Given the description of an element on the screen output the (x, y) to click on. 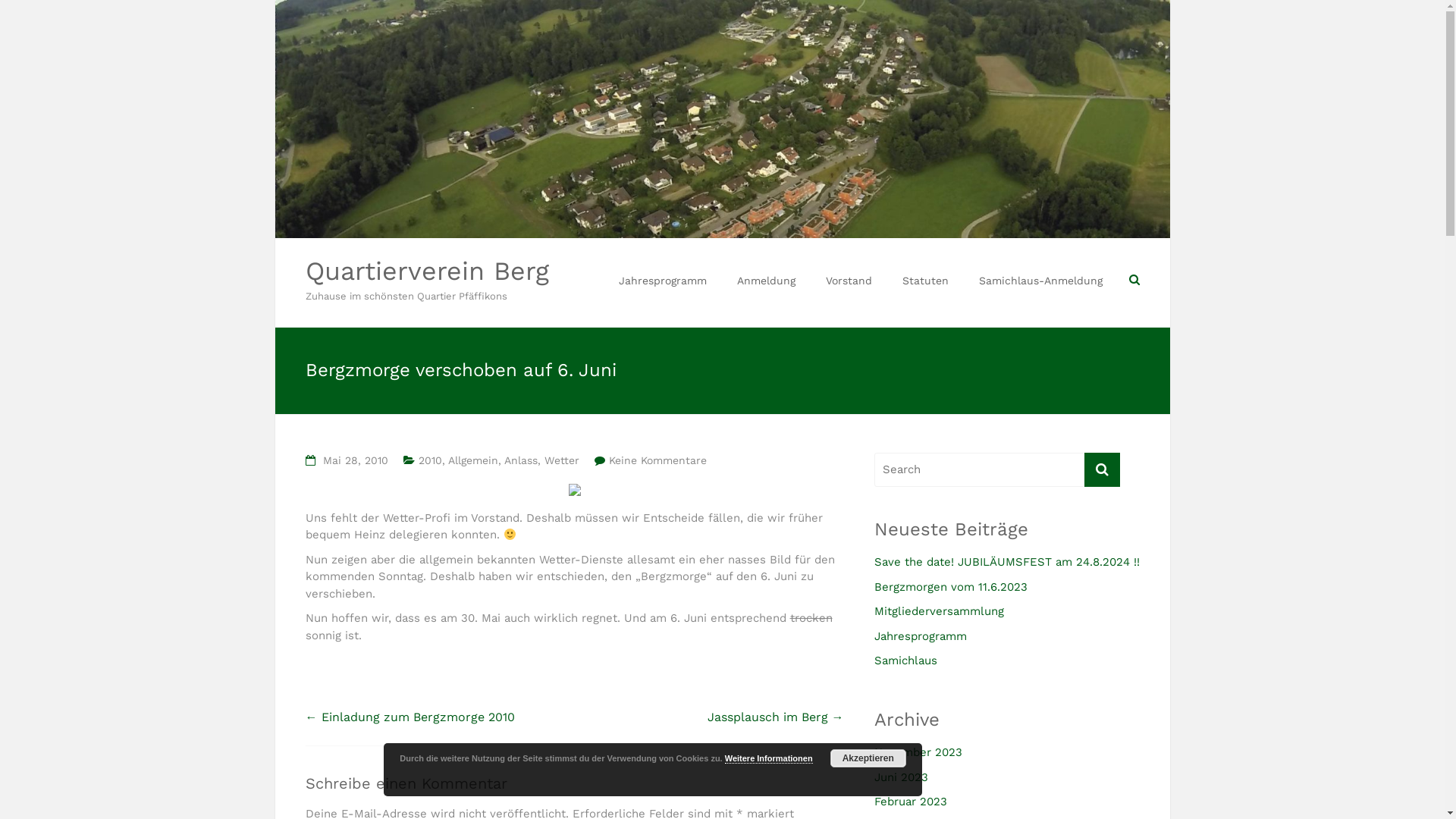
Februar 2023 Element type: text (909, 805)
Anlass Element type: text (519, 460)
Vorstand Element type: text (848, 280)
Juni 2023 Element type: text (900, 780)
Mai 28, 2010 Element type: text (355, 460)
Jahresprogramm Element type: text (662, 280)
Samichlaus Element type: text (904, 664)
Samichlaus-Anmeldung Element type: text (1039, 280)
Mitgliederversammlung Element type: text (938, 614)
Anmeldung Element type: text (766, 280)
Keine Kommentare Element type: text (657, 460)
Bergzmorgen vom 11.6.2023 Element type: text (949, 590)
Weitere Informationen Element type: text (768, 758)
2010 Element type: text (430, 460)
Quartierverein Berg Element type: text (426, 270)
Jahresprogramm Element type: text (919, 639)
Akzeptieren Element type: text (868, 758)
Statuten Element type: text (925, 280)
November 2023 Element type: text (917, 755)
Allgemein Element type: text (472, 460)
Wetter Element type: text (561, 460)
